Given the description of an element on the screen output the (x, y) to click on. 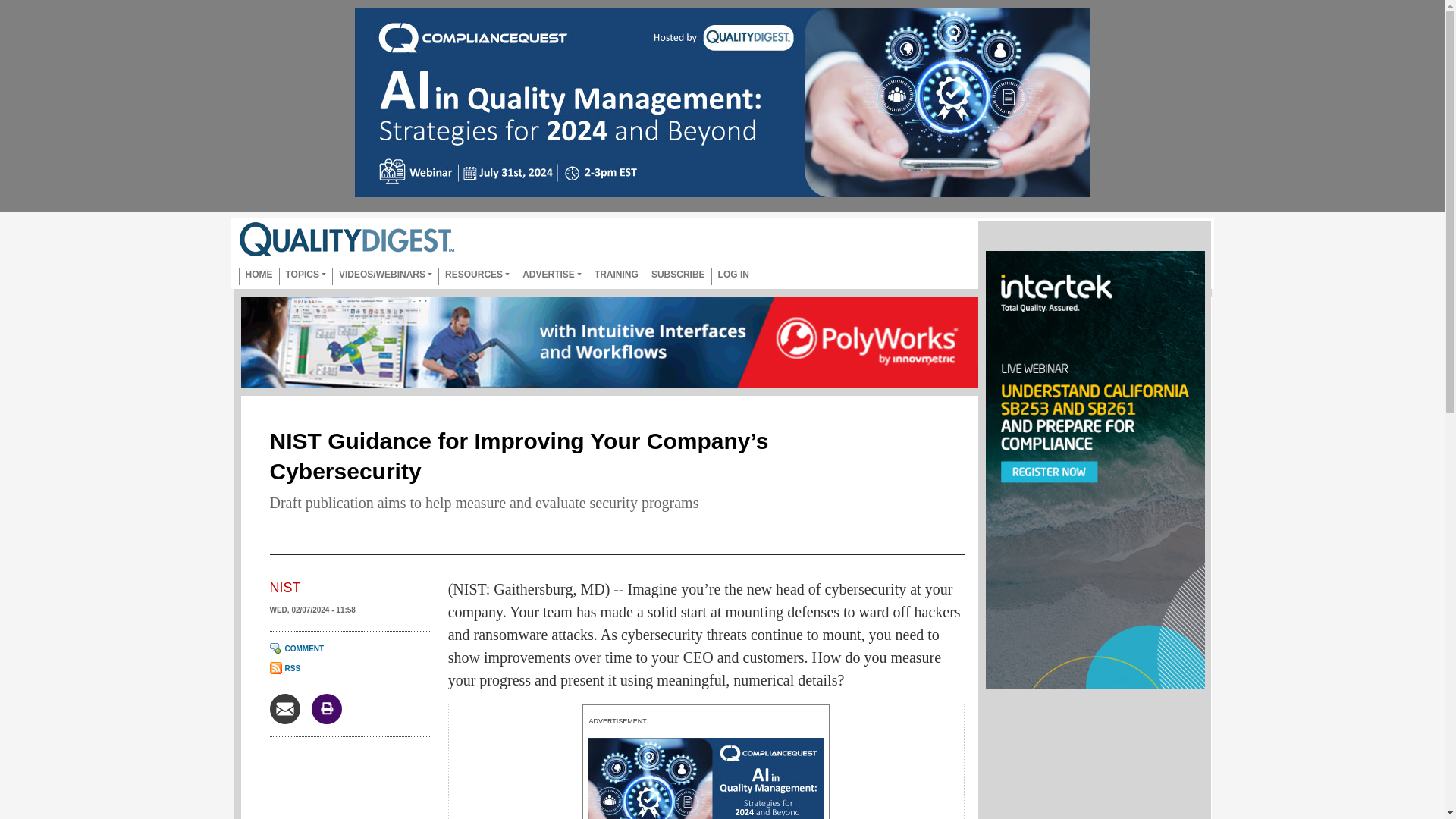
SUBSCRIBE (678, 276)
Expand menu Topics (306, 276)
Print (325, 707)
LOG IN (733, 276)
HOME (258, 276)
Expand menu Resources (476, 276)
Contribute a comment to this article (296, 648)
Email (284, 707)
Home (351, 238)
TRAINING (616, 276)
RESOURCES (476, 276)
Expand menu Advertise (551, 276)
